Given the description of an element on the screen output the (x, y) to click on. 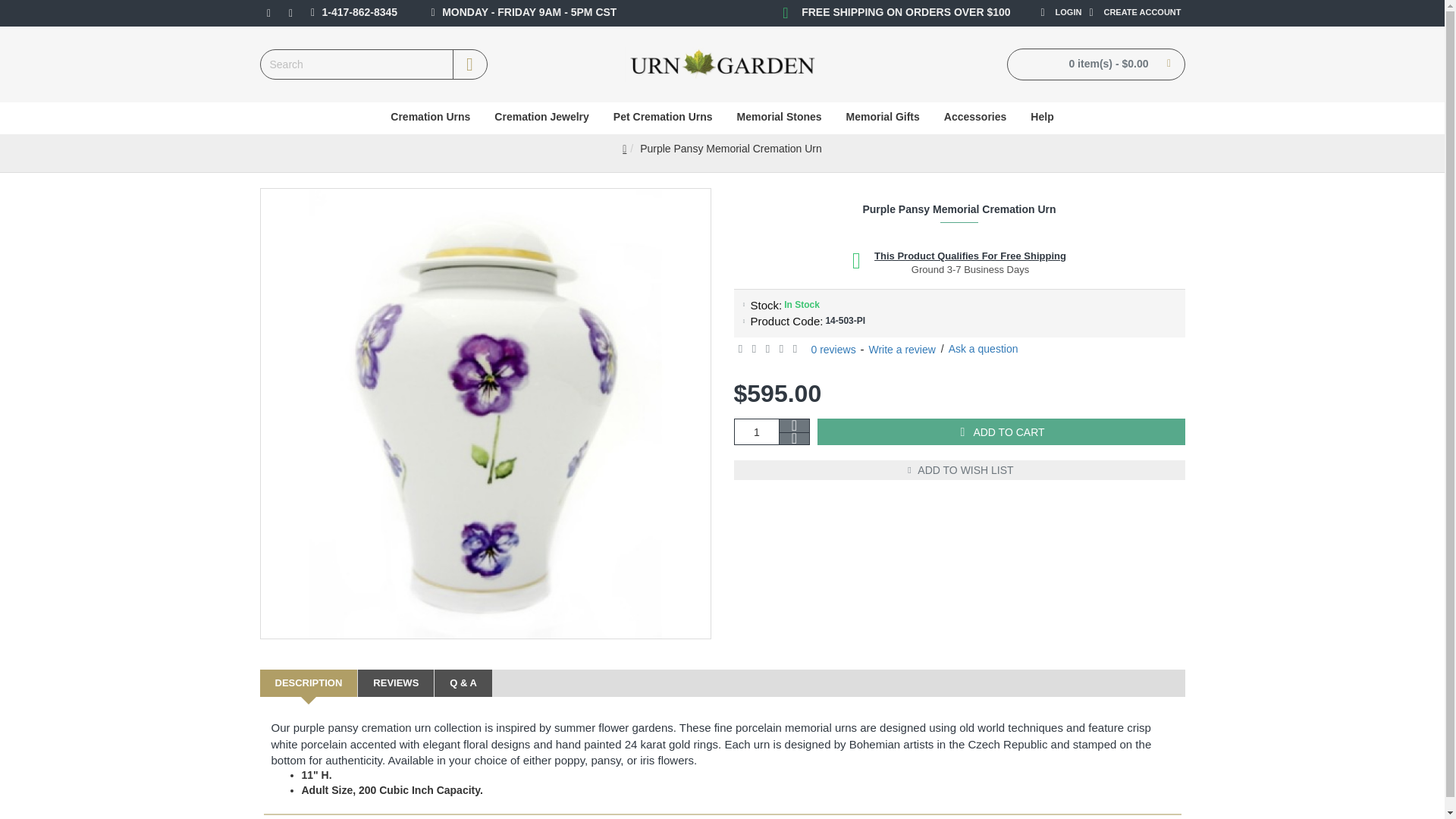
Cremation Jewelry (541, 118)
LOGIN (1050, 13)
Write a review (900, 350)
Urn Garden Cremation Urns (722, 63)
Memorial Gifts (882, 118)
1-417-862-8345 (351, 13)
ADD TO CART (1000, 431)
Memorial Stones (779, 118)
MONDAY - FRIDAY 9AM - 5PM CST (510, 13)
